Given the description of an element on the screen output the (x, y) to click on. 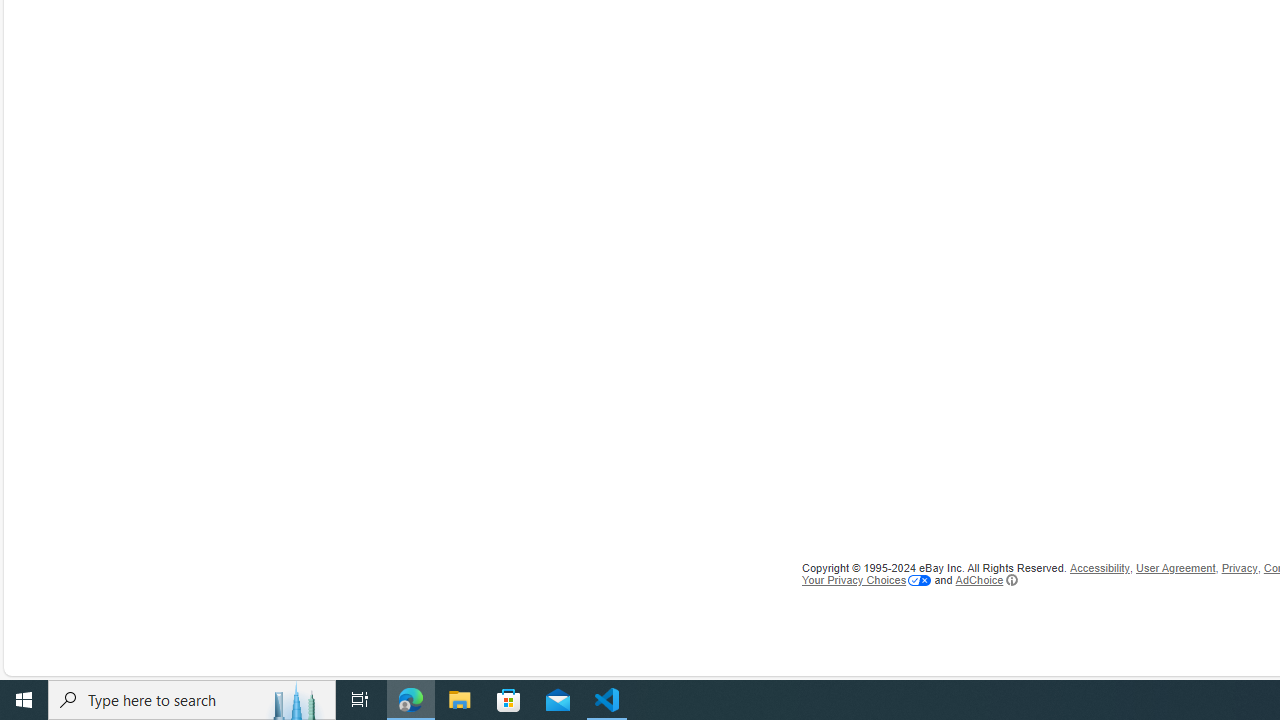
Accessibility (1099, 567)
Privacy (1239, 567)
Your Privacy Choices (866, 579)
User Agreement (1176, 567)
AdChoice (986, 579)
